Given the description of an element on the screen output the (x, y) to click on. 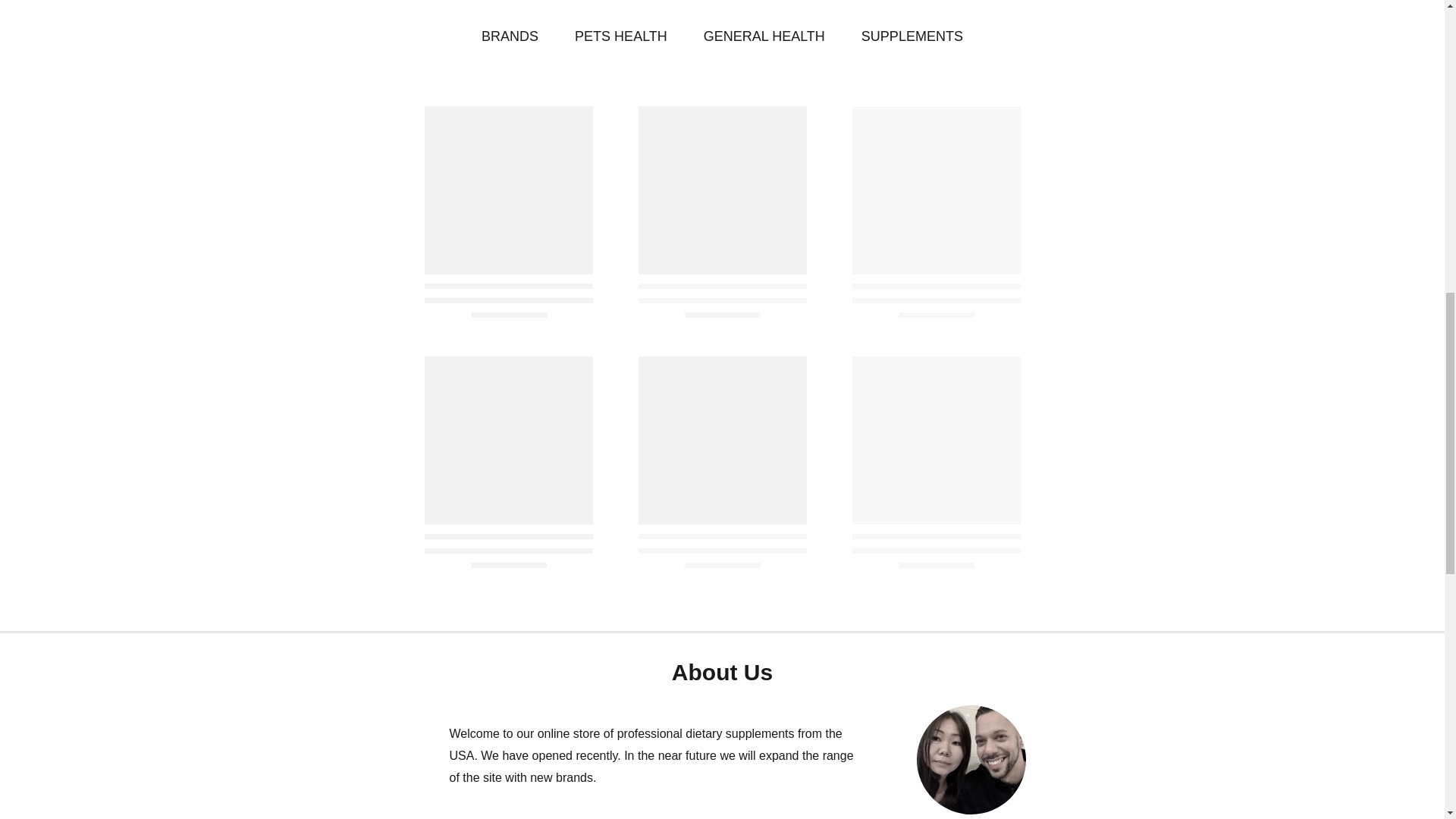
BRANDS (509, 36)
SUPPLEMENTS (911, 36)
PETS HEALTH (620, 36)
GENERAL HEALTH (764, 36)
